Given the description of an element on the screen output the (x, y) to click on. 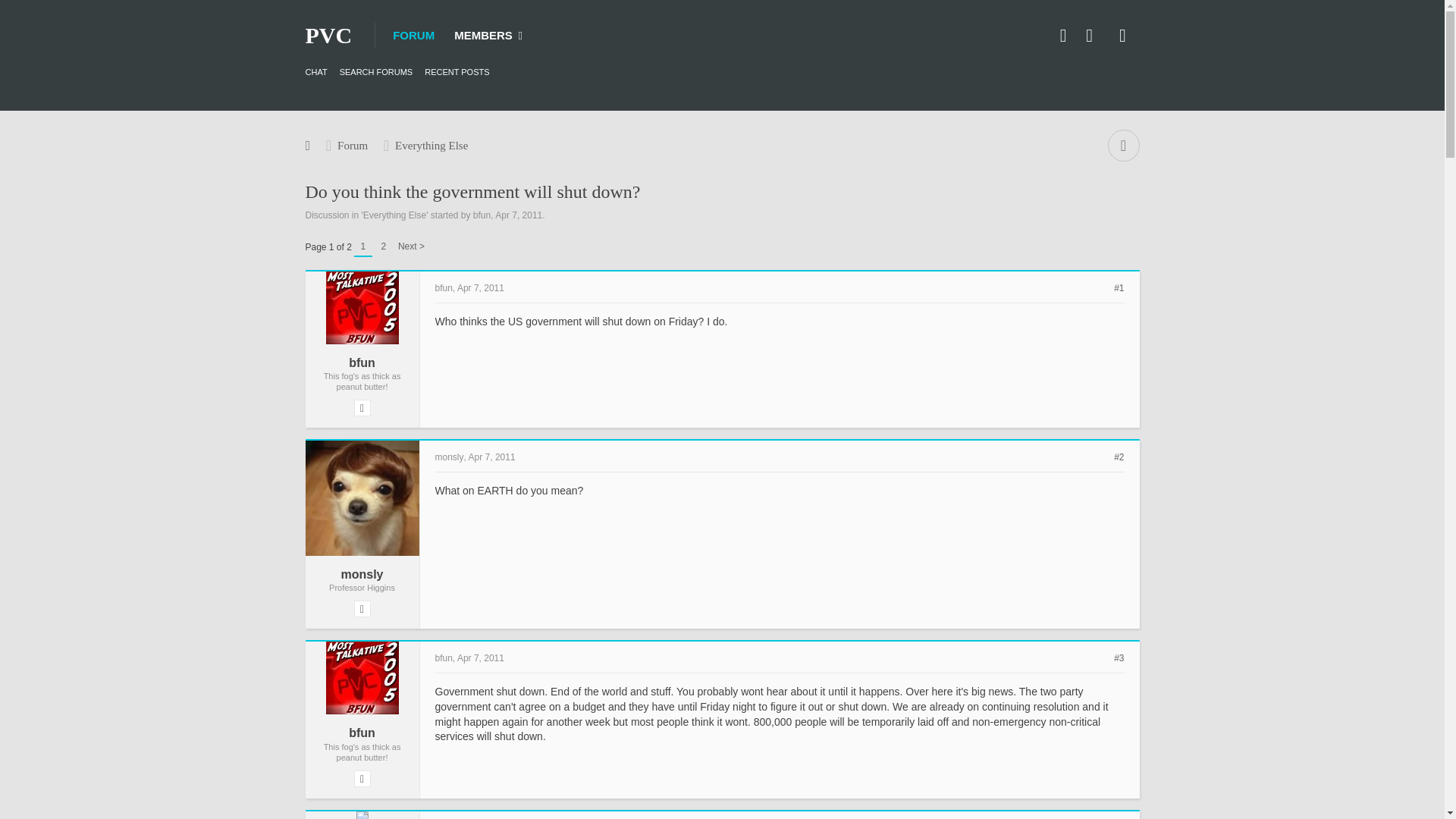
Forum (352, 145)
MEMBERS (488, 35)
Open quick navigation (1122, 145)
Everything Else (431, 145)
Permalink (480, 287)
Sign up (1092, 35)
Permalink (1118, 287)
FORUM (414, 35)
Search (1121, 35)
Apr 7, 2011 at 5:30 PM (518, 214)
